Given the description of an element on the screen output the (x, y) to click on. 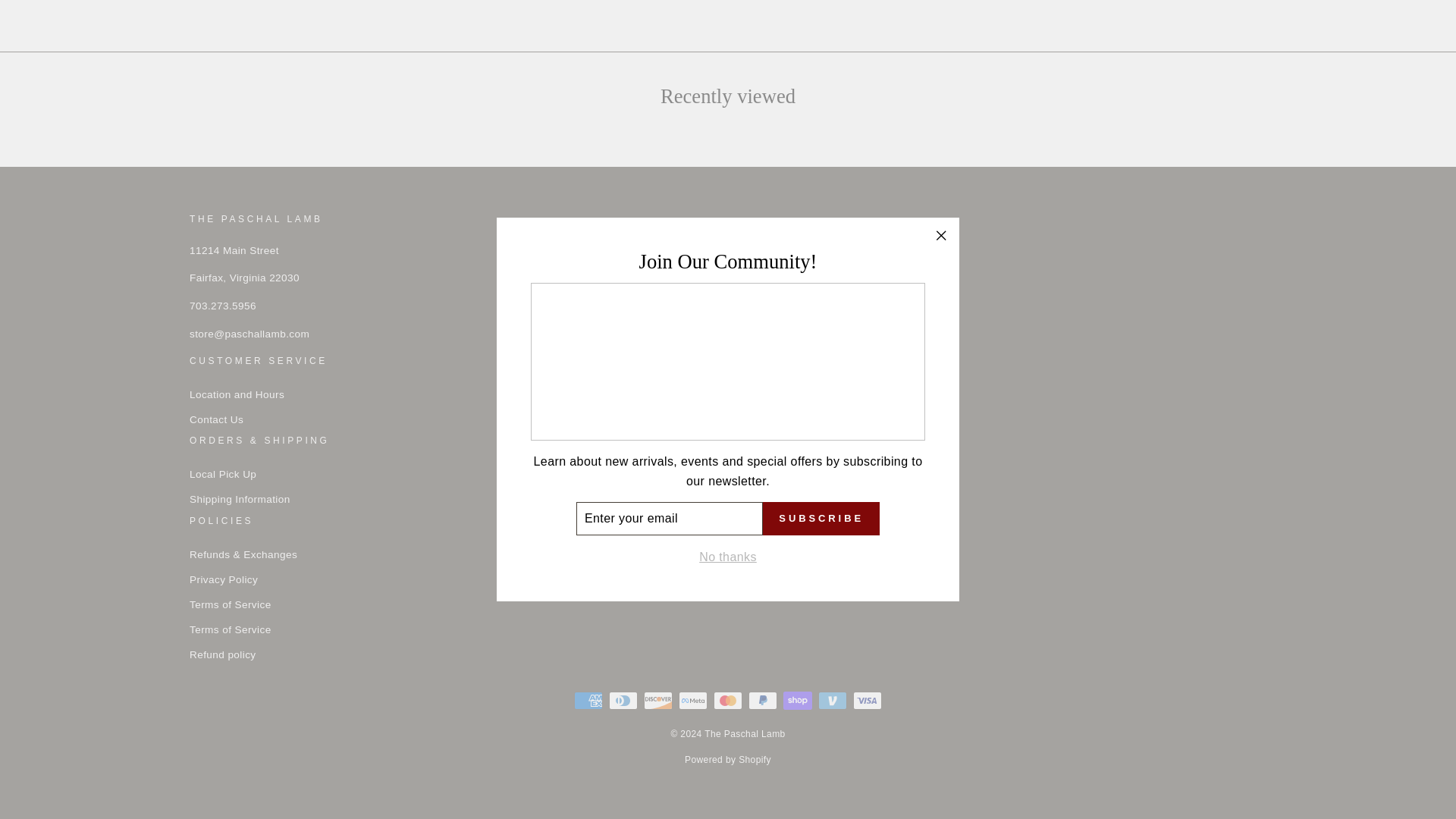
Shop Pay (797, 700)
PayPal (762, 700)
Visa (867, 700)
Mastercard (727, 700)
Diners Club (622, 700)
Venmo (832, 700)
American Express (587, 700)
Meta Pay (692, 700)
Discover (657, 700)
